Given the description of an element on the screen output the (x, y) to click on. 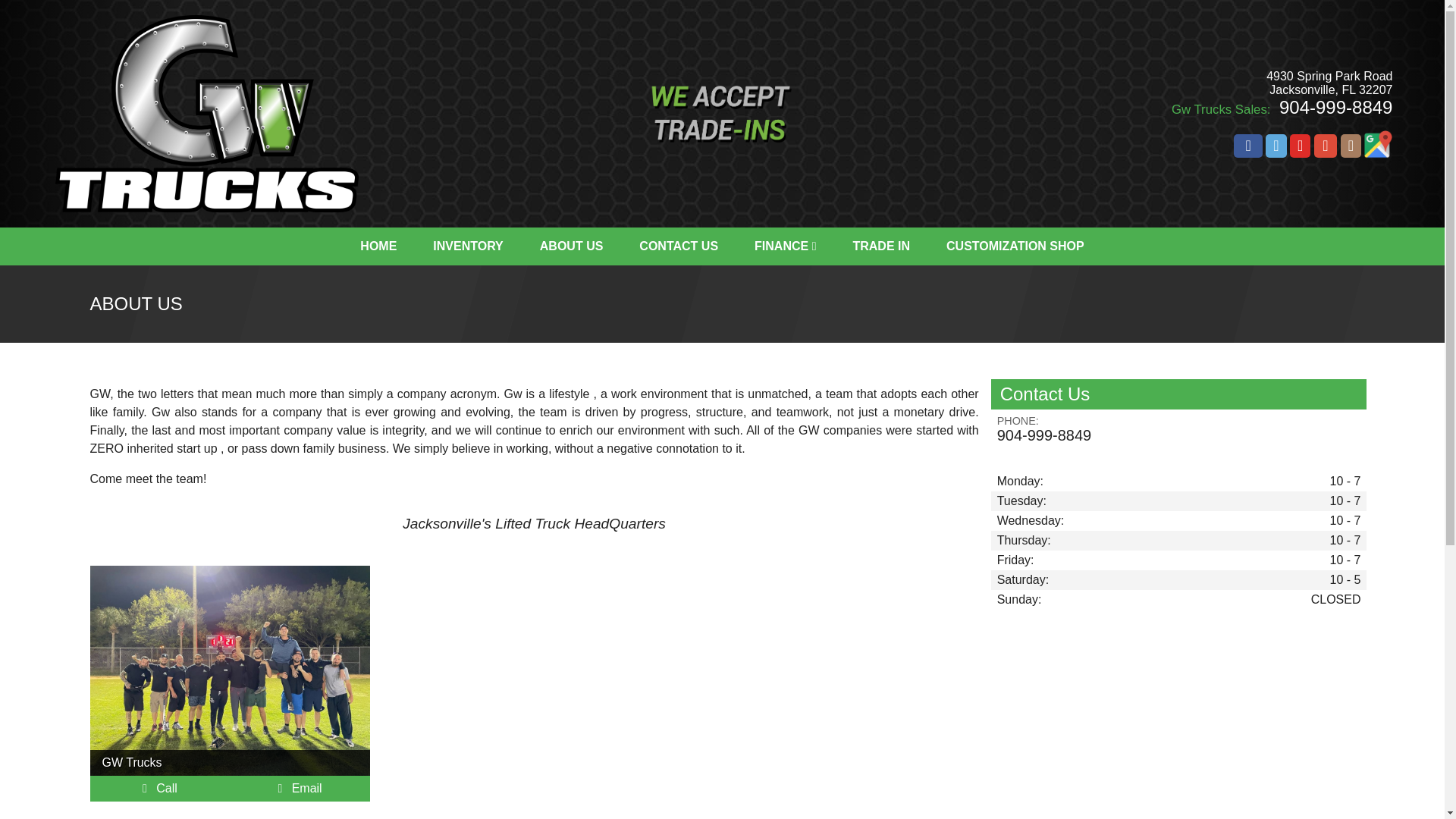
CONTACT US (678, 245)
INVENTORY (467, 245)
Contact Us (299, 788)
HOME (378, 245)
TRADE IN (881, 245)
CUSTOMIZATION SHOP (1015, 245)
Email (299, 788)
ABOUT US (571, 245)
FINANCE (784, 245)
Call (159, 788)
